Given the description of an element on the screen output the (x, y) to click on. 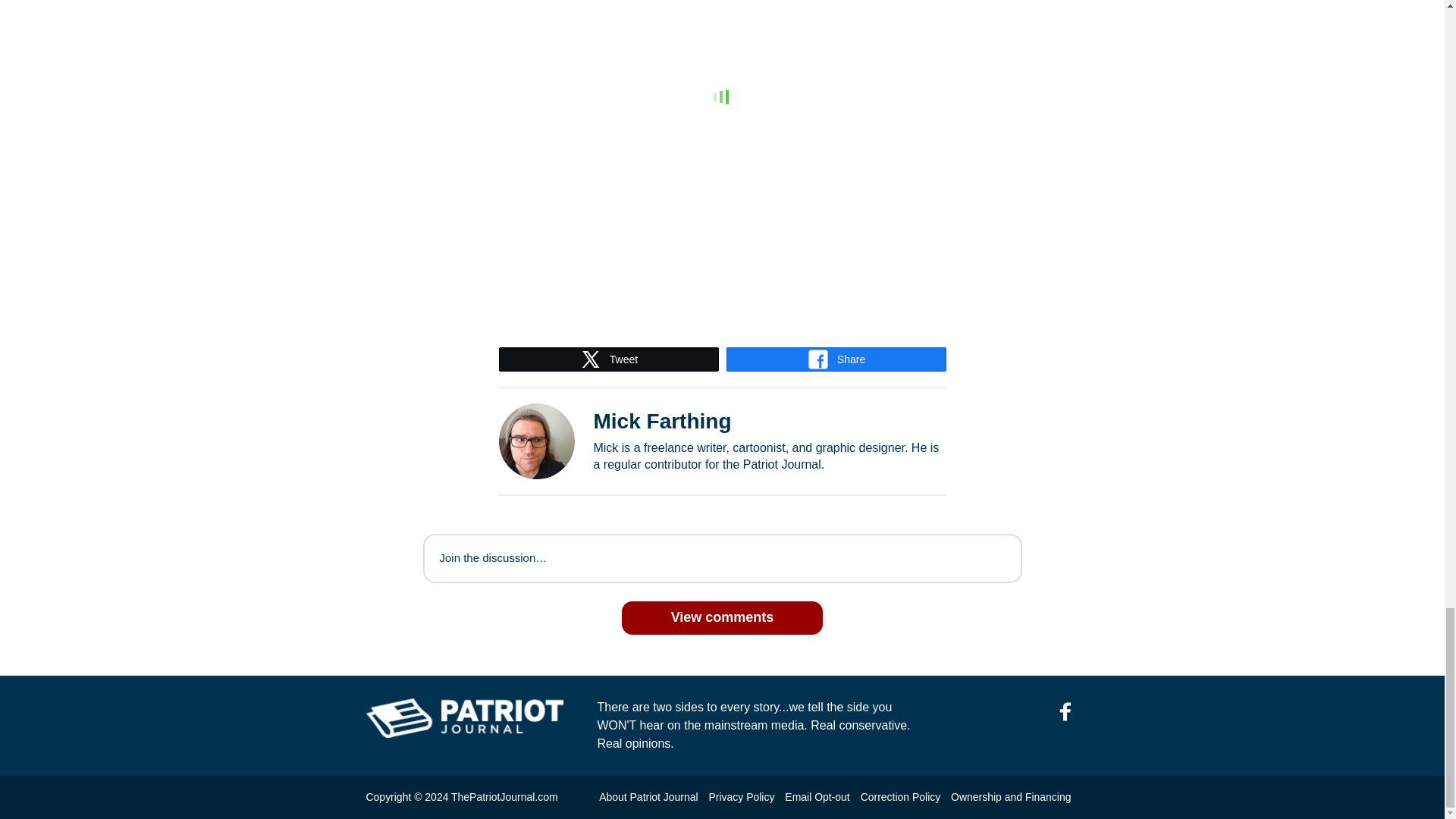
Email Opt-out (816, 797)
Privacy Policy (740, 797)
About Patriot Journal (647, 797)
Ownership and Financing (1010, 797)
Share (835, 359)
Tweet (608, 359)
View comments (722, 617)
ThePatriotJournal.com (504, 797)
Correction Policy (900, 797)
